Given the description of an element on the screen output the (x, y) to click on. 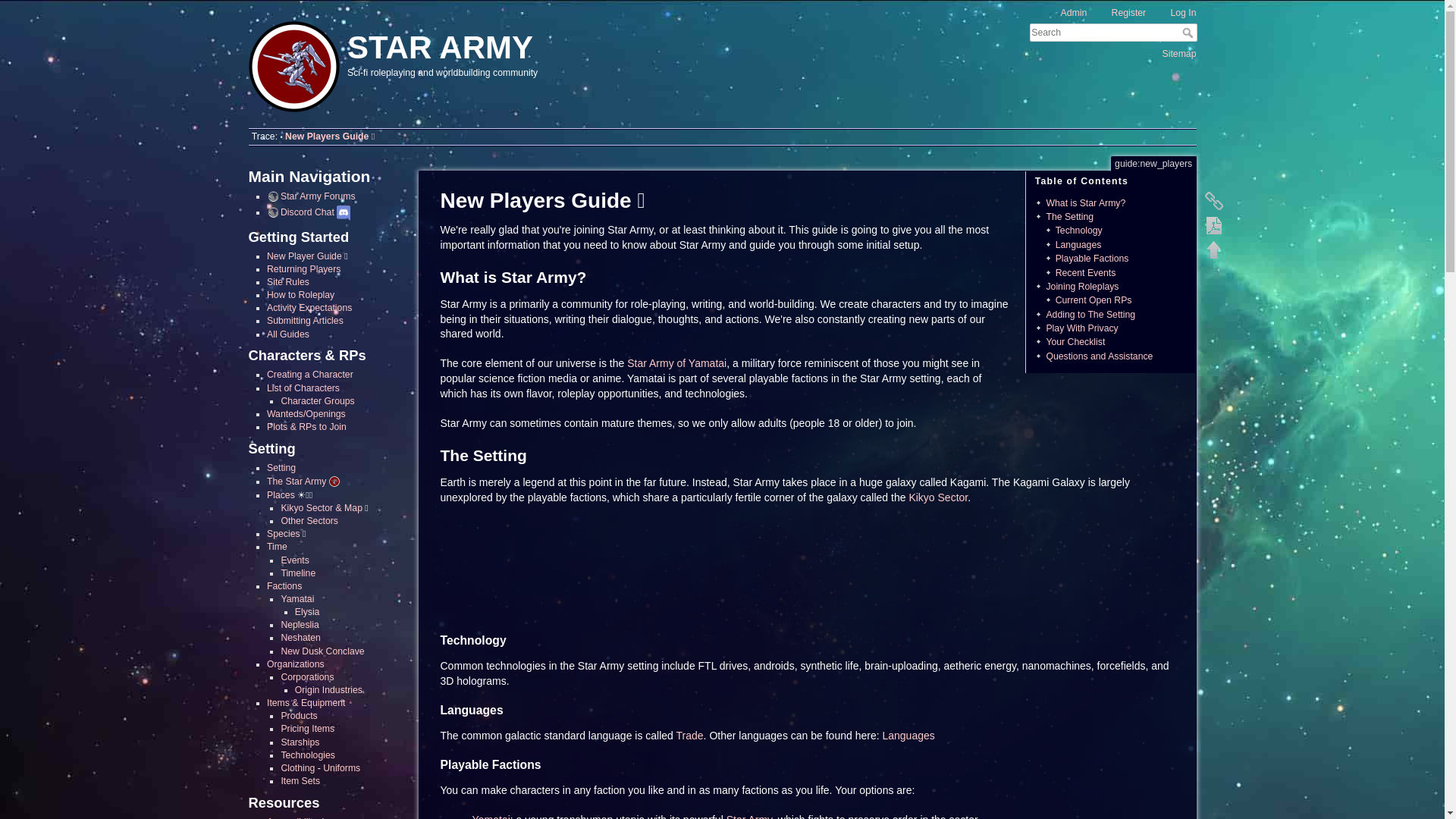
New Dusk Conclave (322, 651)
List of Characters (302, 388)
Corporations (307, 676)
Other Sectors (309, 520)
guide:roleplaying (300, 294)
Admin (1066, 12)
Yamatai (297, 598)
New Player Guide (304, 255)
Places (280, 494)
Character Groups (317, 400)
